Given the description of an element on the screen output the (x, y) to click on. 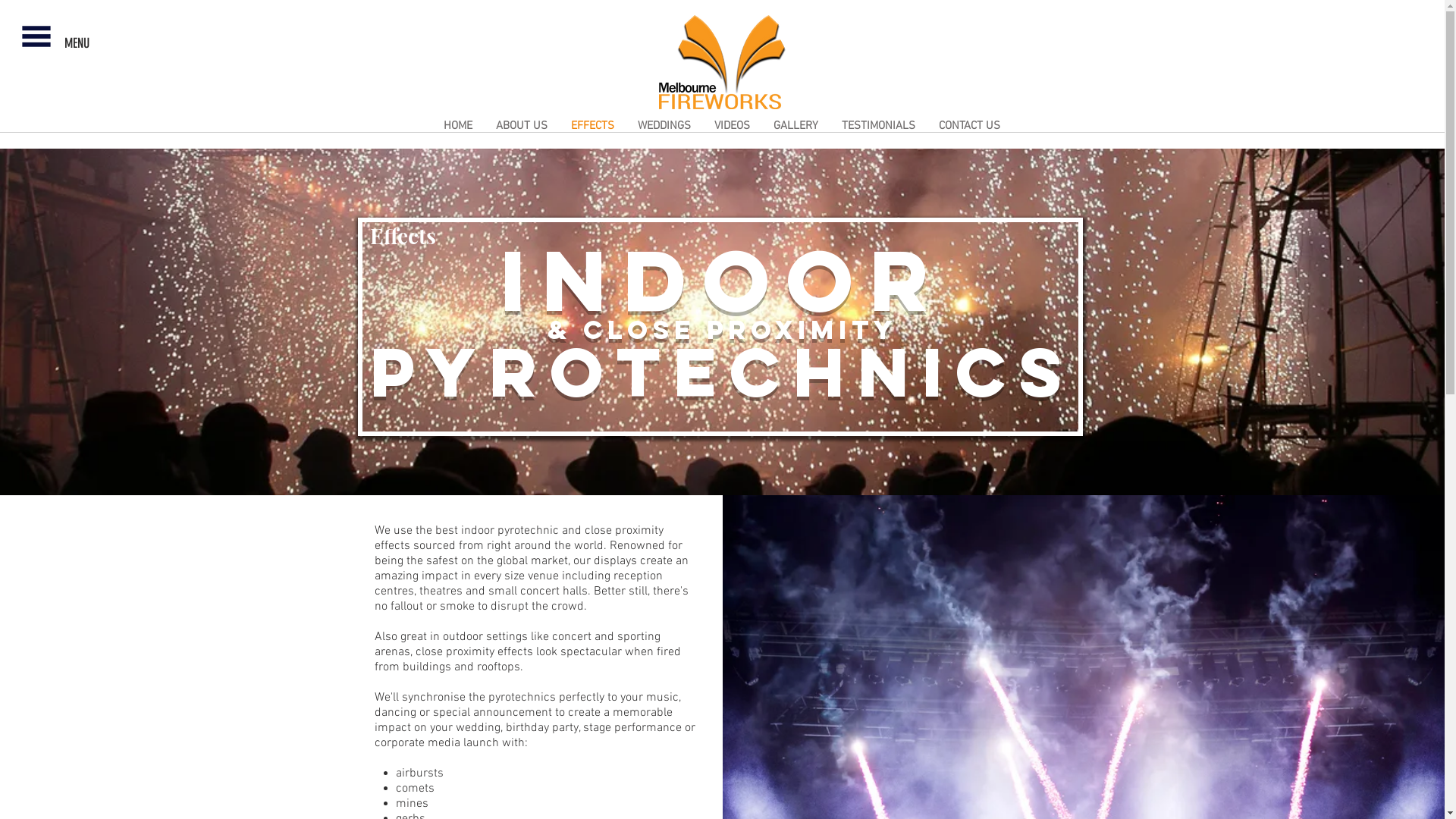
EFFECTS Element type: text (592, 126)
HOME Element type: text (457, 126)
GALLERY Element type: text (794, 126)
ABOUT US Element type: text (520, 126)
VIDEOS Element type: text (731, 126)
CONTACT US Element type: text (968, 126)
WEDDINGS Element type: text (664, 126)
TESTIMONIALS Element type: text (877, 126)
